Given the description of an element on the screen output the (x, y) to click on. 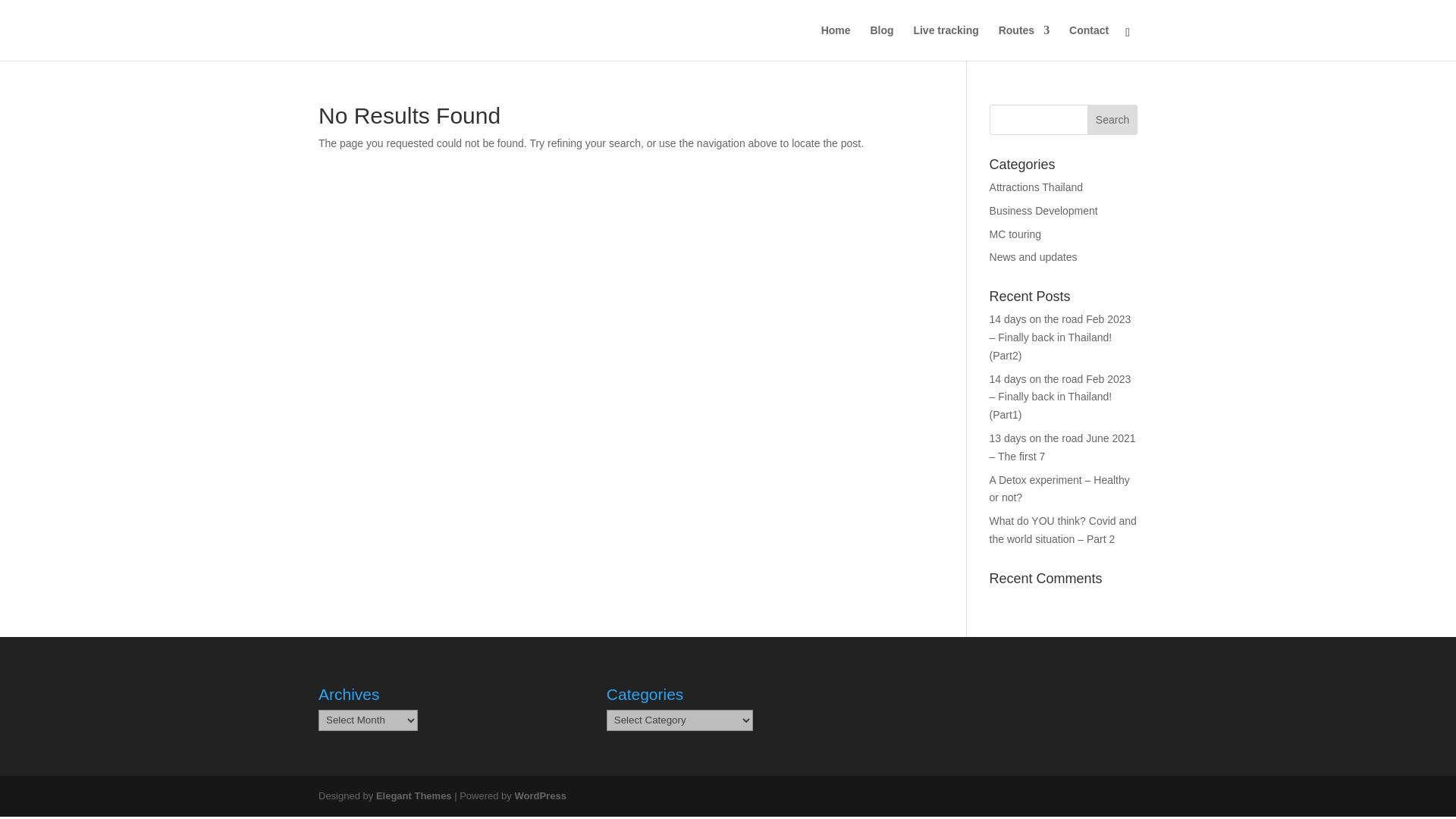
Elegant Themes (413, 795)
Contact (1088, 42)
Premium WordPress Themes (413, 795)
MC touring (1015, 234)
Search (1112, 119)
Routes (1023, 42)
News and updates (1033, 256)
Attractions Thailand (1036, 186)
Search (1112, 119)
WordPress (539, 795)
Live tracking (945, 42)
Business Development (1043, 210)
